Given the description of an element on the screen output the (x, y) to click on. 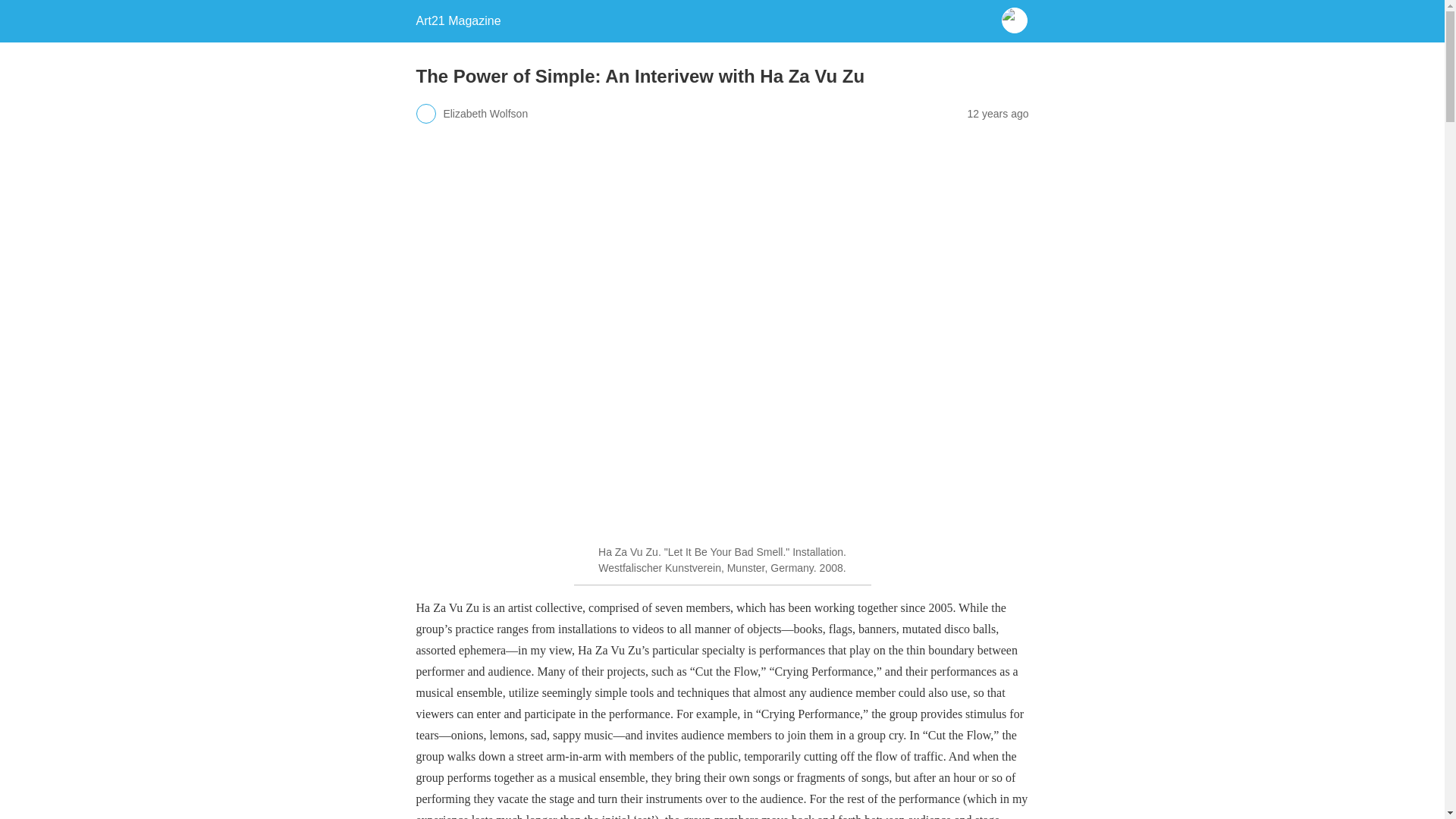
Art21 Magazine (457, 20)
